Given the description of an element on the screen output the (x, y) to click on. 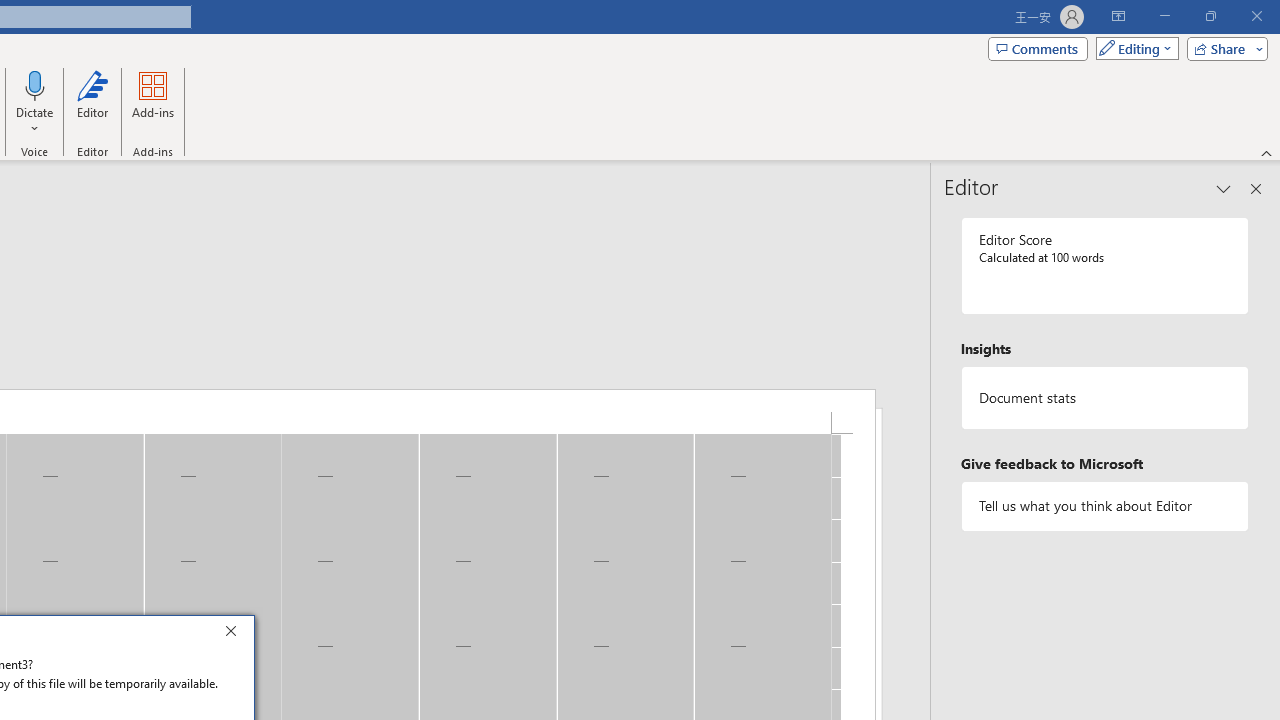
Restore Down (1210, 16)
Mode (1133, 47)
Dictate (35, 84)
Tell us what you think about Editor (1105, 506)
Collapse the Ribbon (1267, 152)
Minimize (1164, 16)
Document statistics (1105, 398)
Task Pane Options (1224, 188)
Share (1223, 48)
Dictate (35, 102)
